Given the description of an element on the screen output the (x, y) to click on. 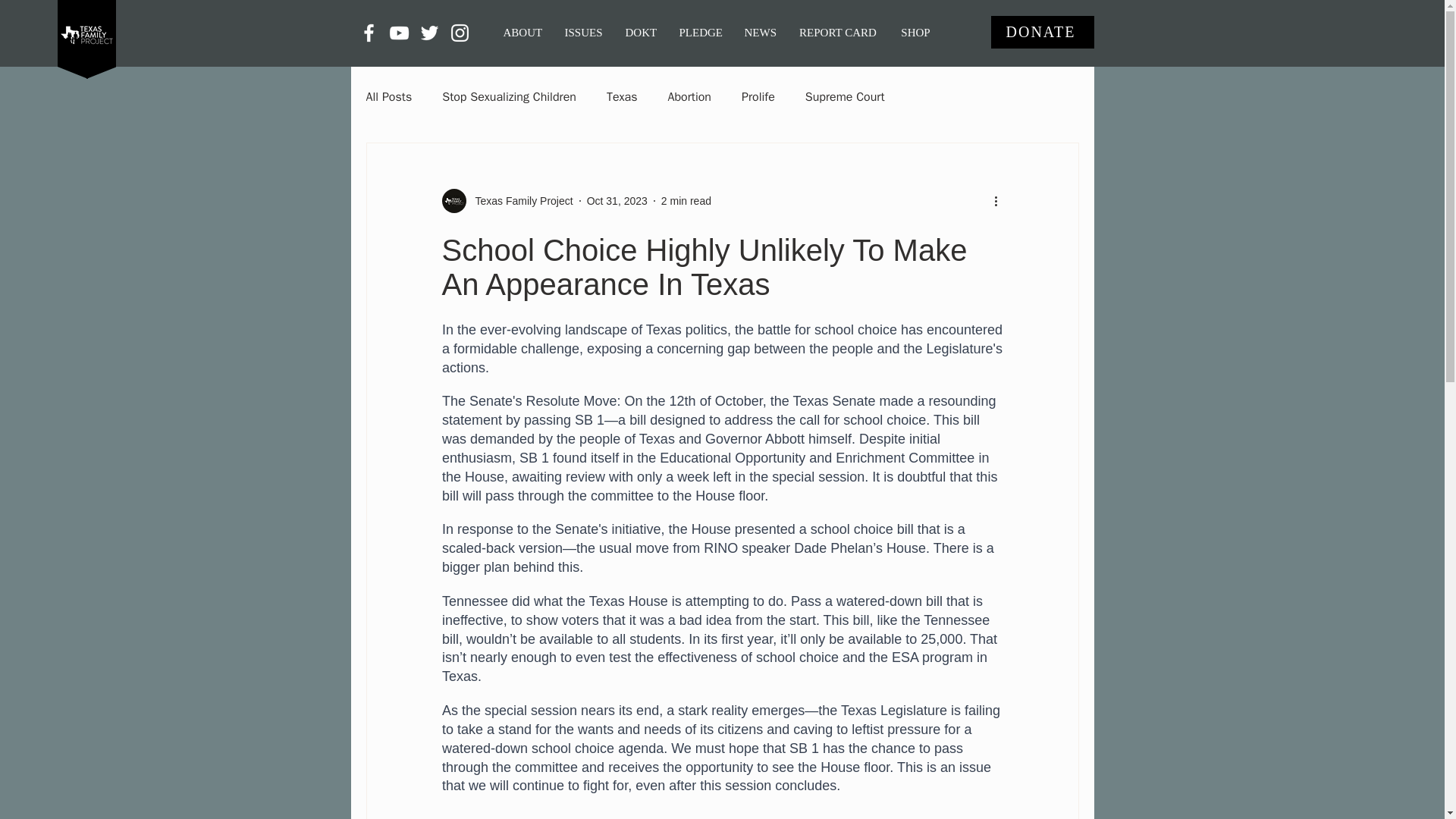
All Posts (388, 97)
NEWS (759, 32)
ABOUT (522, 32)
DONATE (1041, 31)
PLEDGE (699, 32)
Oct 31, 2023 (616, 200)
Supreme Court (845, 97)
Stop Sexualizing Children (509, 97)
REPORT CARD (837, 32)
ISSUES (583, 32)
